Given the description of an element on the screen output the (x, y) to click on. 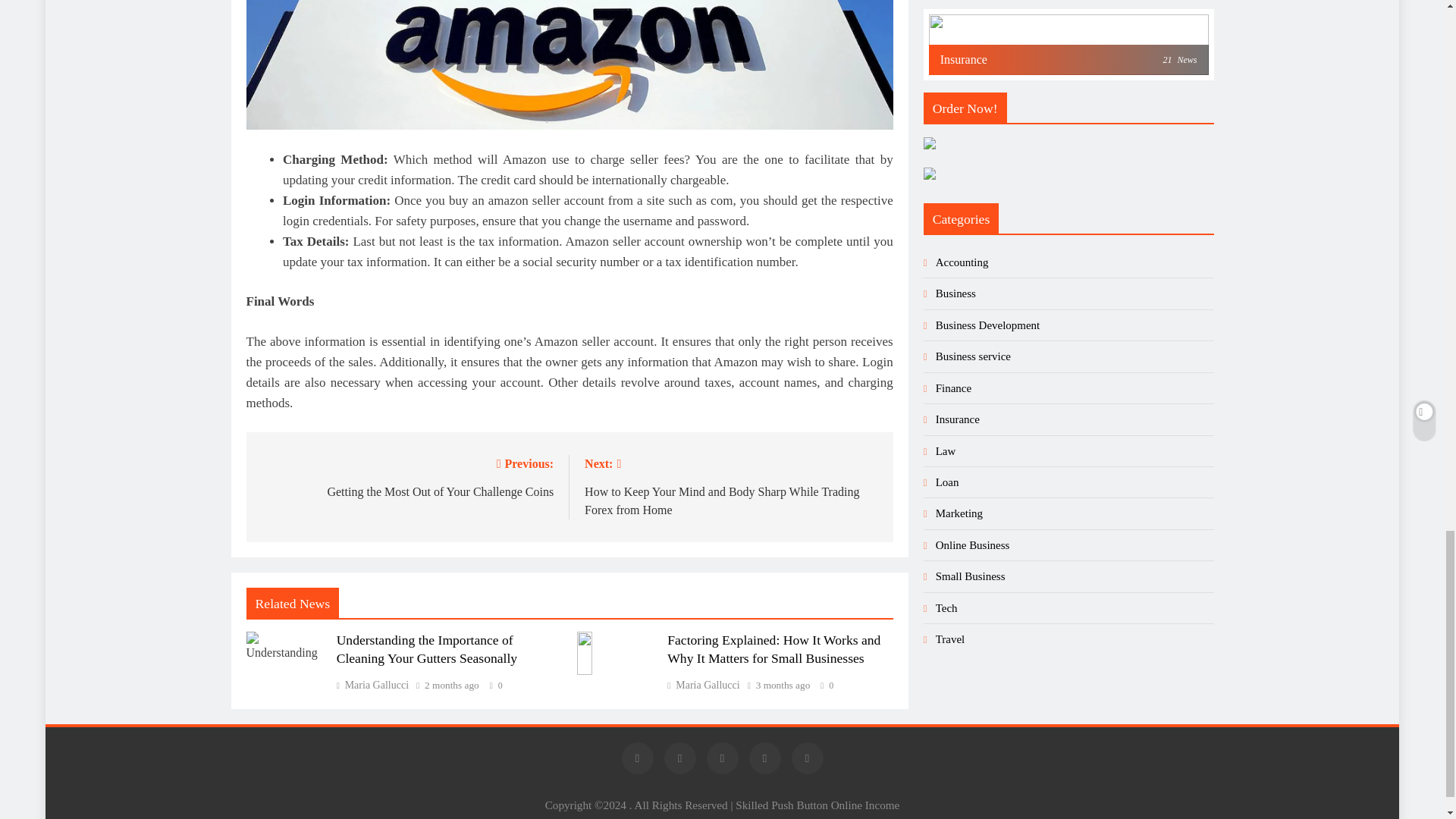
3 months ago (782, 685)
2 months ago (406, 476)
Maria Gallucci (452, 685)
Maria Gallucci (702, 685)
